Given the description of an element on the screen output the (x, y) to click on. 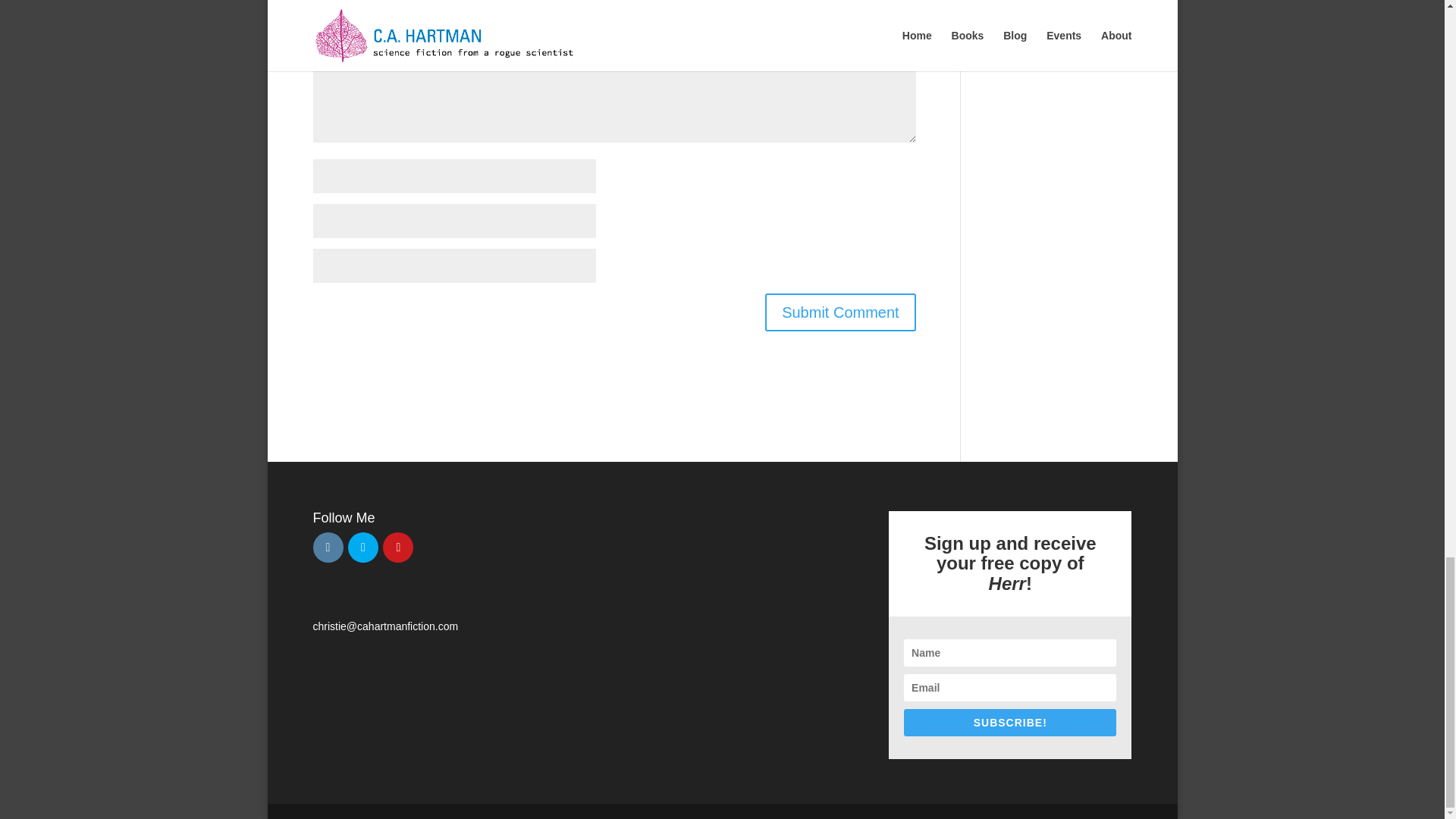
Submit Comment (840, 312)
Submit Comment (840, 312)
